Given the description of an element on the screen output the (x, y) to click on. 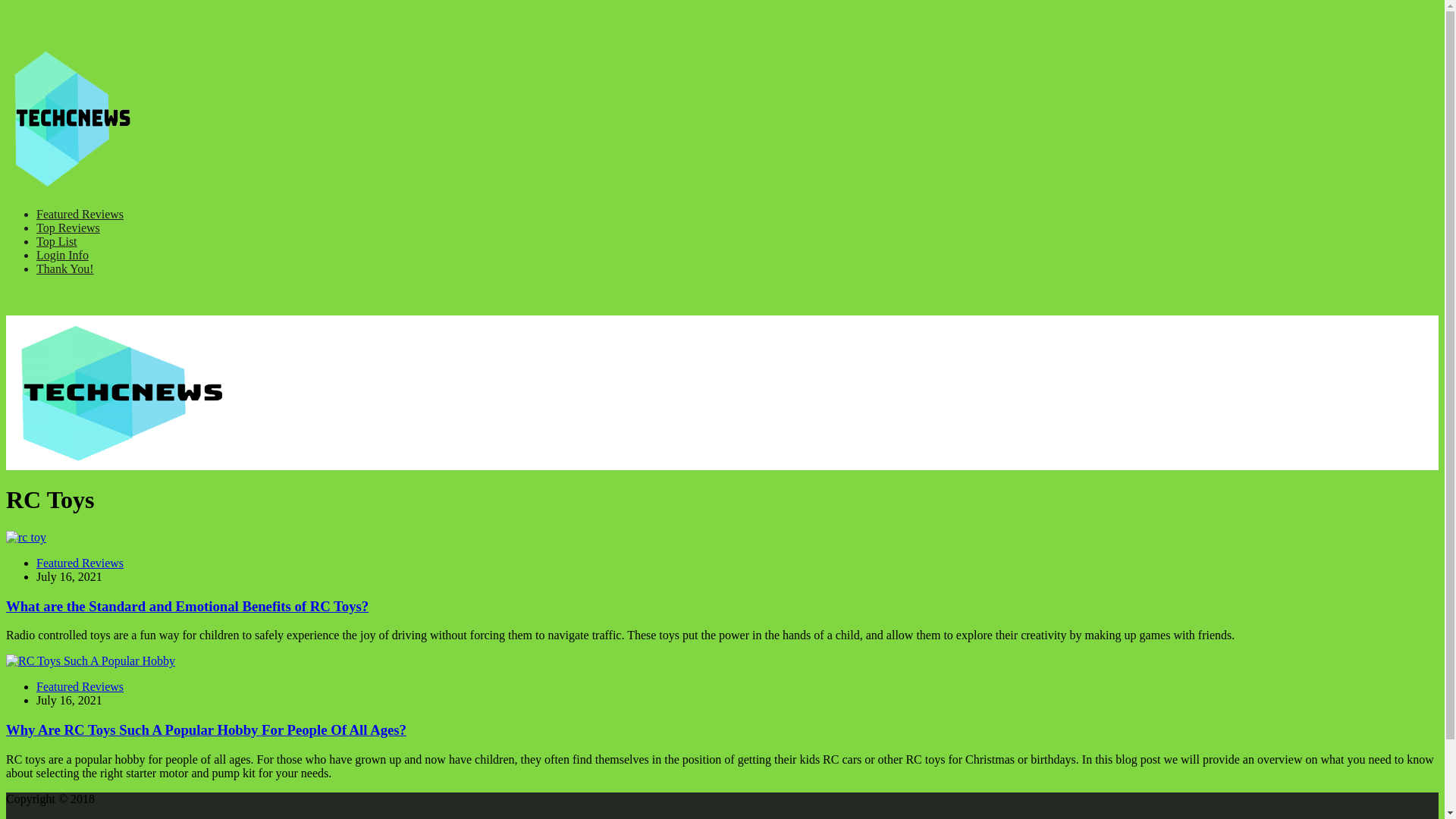
TechcNews logo (70, 187)
Top List (56, 241)
Featured Reviews (79, 686)
Featured Reviews (79, 562)
Why Are RC Toys Such A Popular Hobby For People Of All Ages? (205, 729)
Home (118, 462)
Login Info (62, 254)
Thank You! (65, 268)
Top Reviews (68, 227)
Featured Reviews (79, 214)
